Given the description of an element on the screen output the (x, y) to click on. 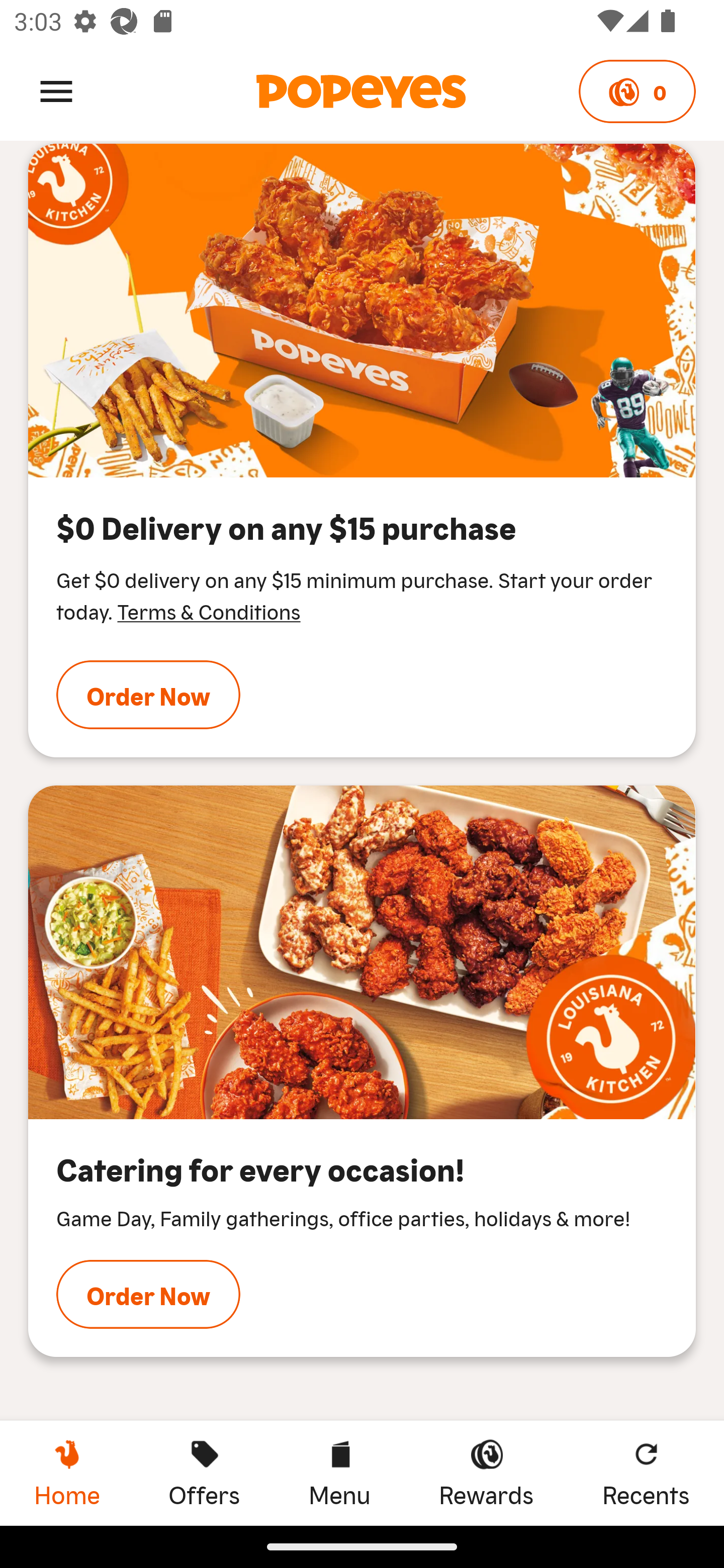
Menu  (56, 90)
0 Points 0 (636, 91)
Popeyes Wings (361, 310)
Order Now (148, 694)
Catering for every occasion! (361, 952)
Order Now (148, 1294)
Home, current page Home Home, current page (66, 1472)
Offers Offers Offers (203, 1472)
Menu Menu Menu (339, 1472)
Rewards Rewards Rewards (486, 1472)
Recents Recents Recents (646, 1472)
